Given the description of an element on the screen output the (x, y) to click on. 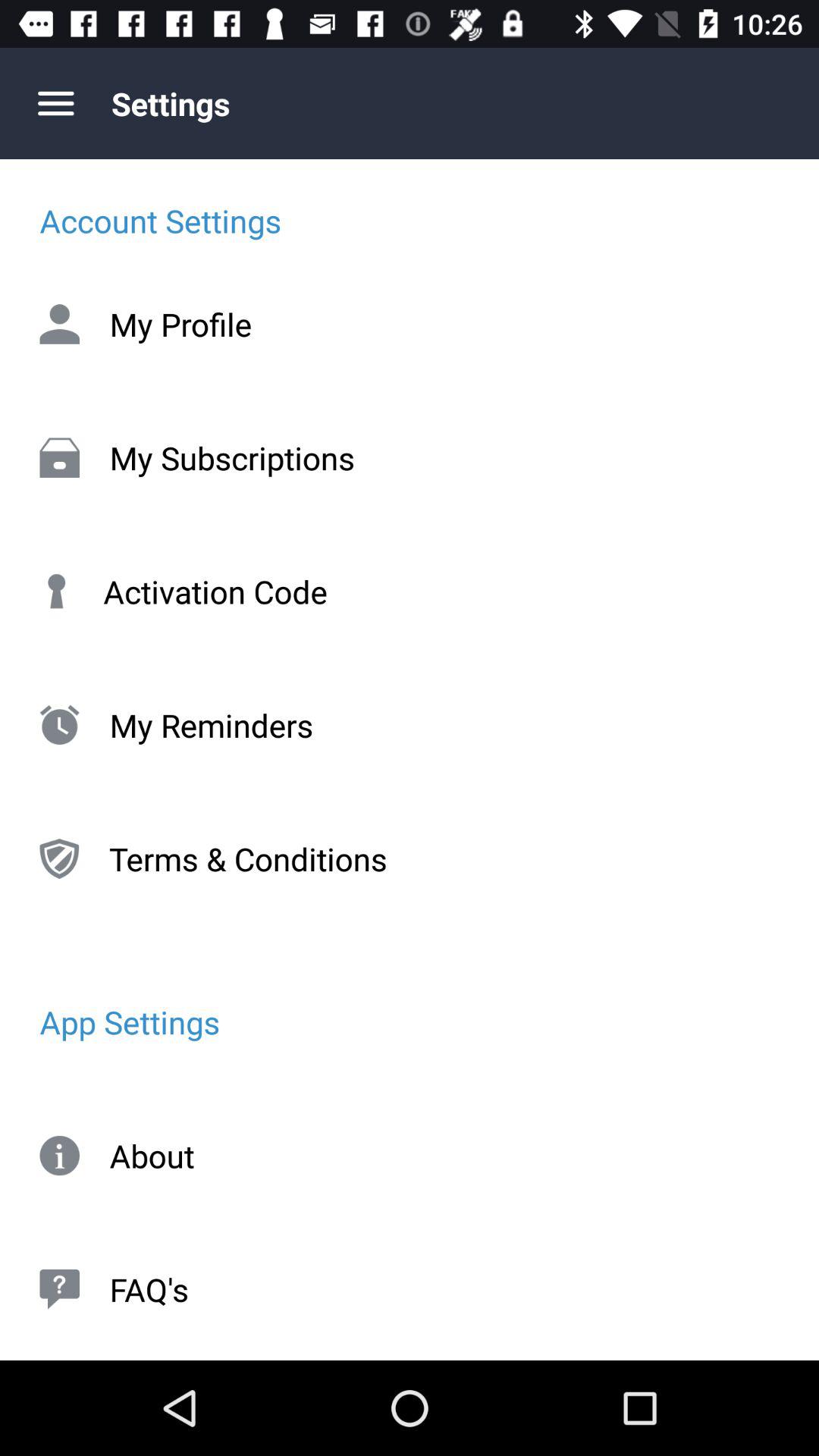
click the icon above terms & conditions icon (409, 724)
